Given the description of an element on the screen output the (x, y) to click on. 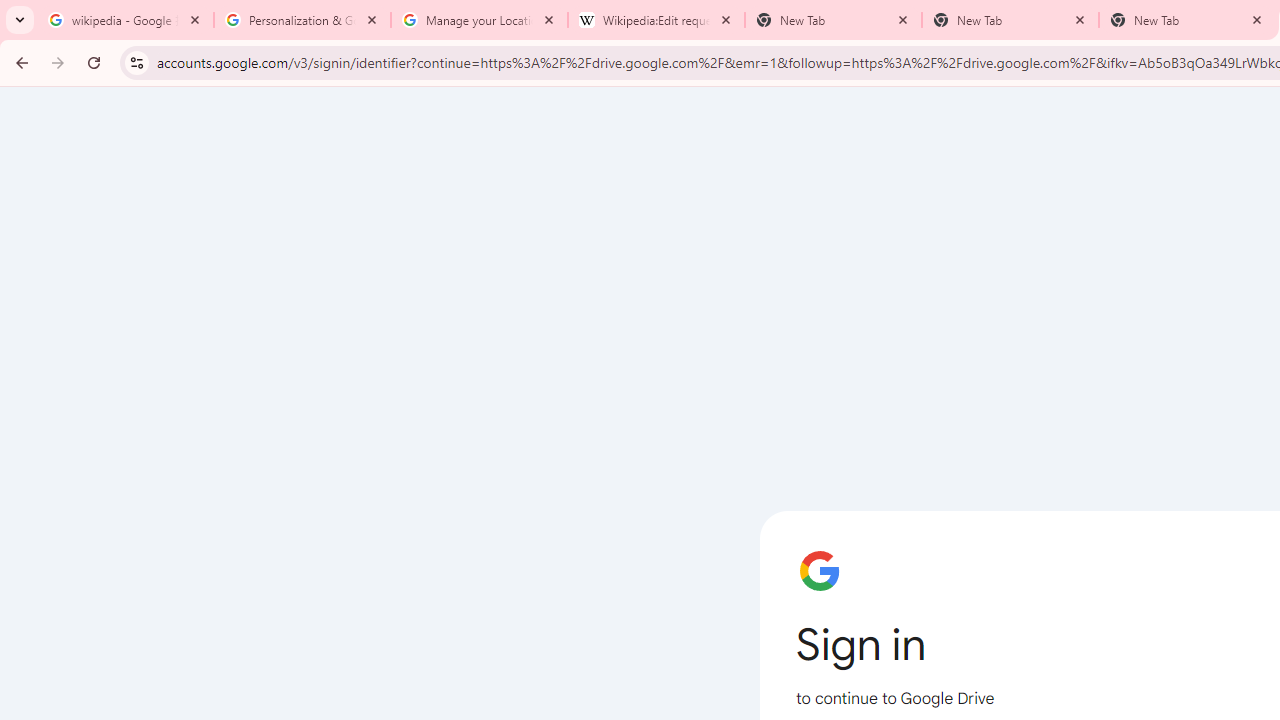
New Tab (1010, 20)
Personalization & Google Search results - Google Search Help (301, 20)
Manage your Location History - Google Search Help (479, 20)
Wikipedia:Edit requests - Wikipedia (656, 20)
